Given the description of an element on the screen output the (x, y) to click on. 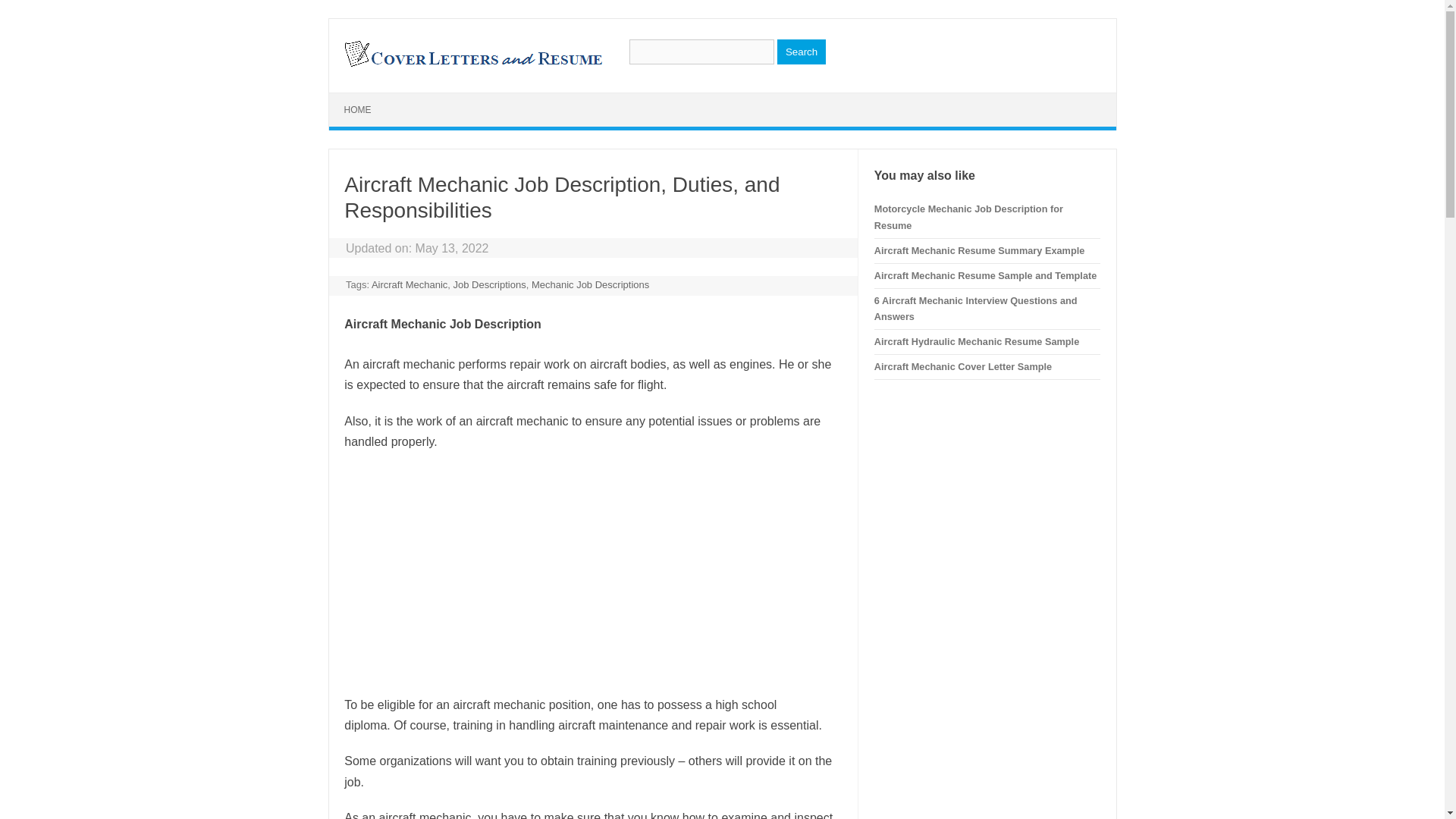
Motorcycle Mechanic Job Description for Resume (968, 216)
Aircraft Mechanic Cover Letter Sample (963, 366)
Search (801, 51)
HOME (358, 109)
Advertisement (592, 572)
Mechanic Job Descriptions (590, 284)
6 Aircraft Mechanic Interview Questions and Answers (976, 308)
Search (801, 51)
Cover Letters and Resume Samples (471, 65)
Aircraft Mechanic Resume Sample and Template (985, 275)
Job Descriptions (488, 284)
Aircraft Mechanic (408, 284)
Aircraft Hydraulic Mechanic Resume Sample (976, 341)
